Given the description of an element on the screen output the (x, y) to click on. 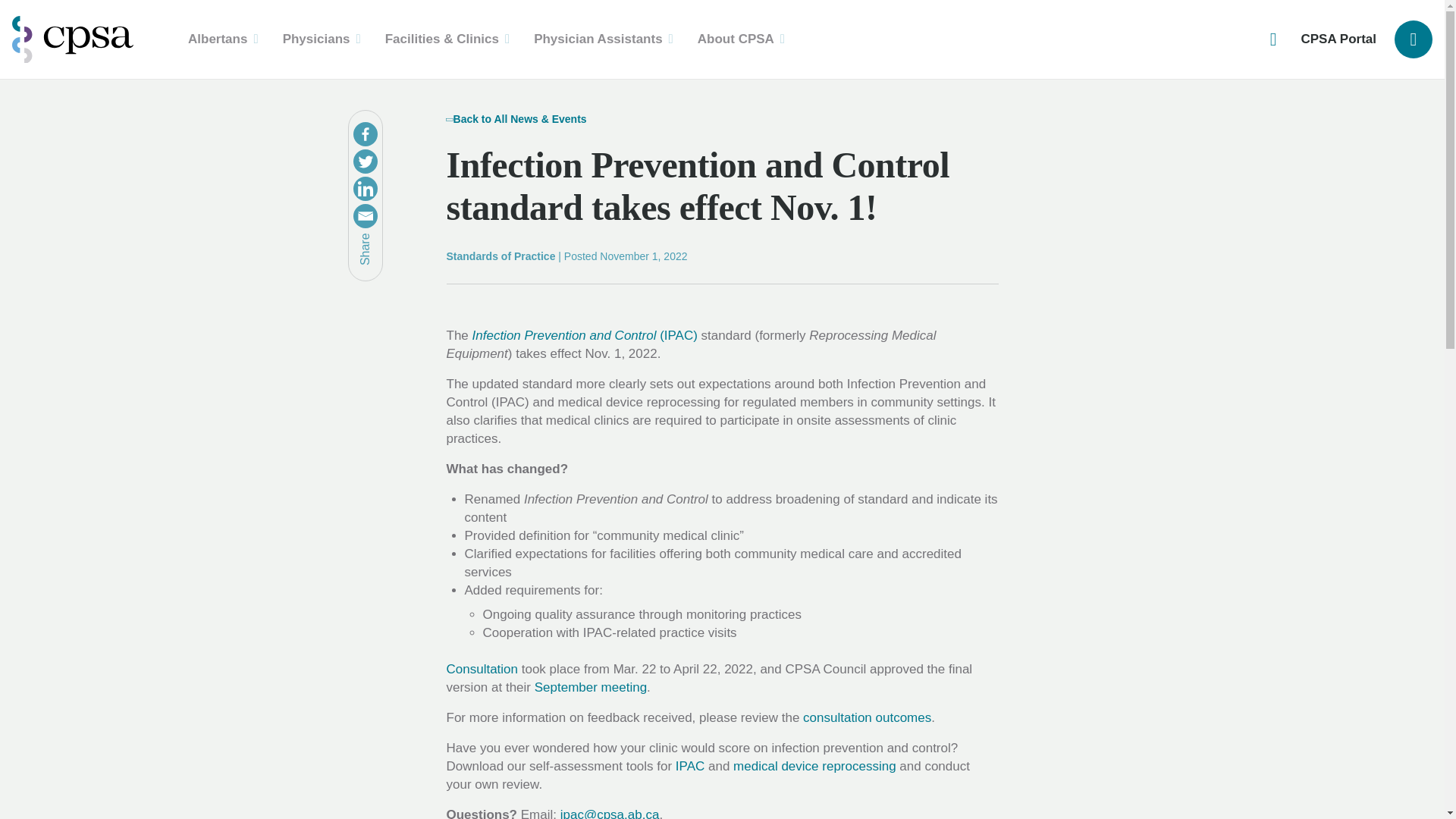
Physician Assistants (603, 39)
Physicians (321, 39)
Albertans (223, 39)
Linkedin (365, 188)
About CPSA (740, 39)
Facebook (365, 134)
CPSA Portal (1337, 39)
Twitter (365, 161)
Email (365, 215)
